Given the description of an element on the screen output the (x, y) to click on. 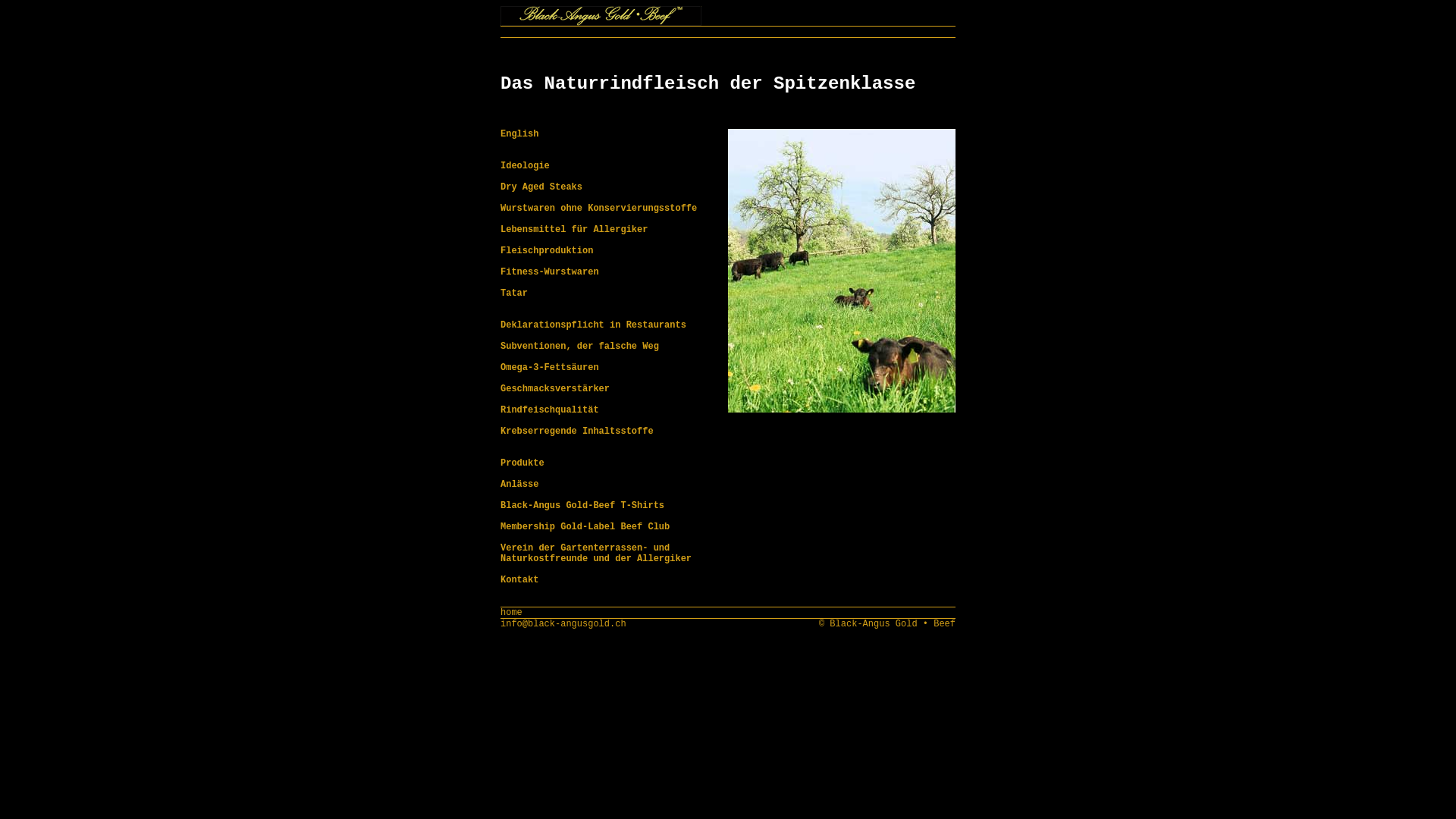
Ideologie Element type: text (524, 165)
Dry Aged Steaks Element type: text (541, 187)
Fitness-Wurstwaren Element type: text (549, 271)
English Element type: text (519, 133)
Deklarationspflicht in Restaurants Element type: text (593, 325)
Black-Angus Gold-Beef T-Shirts Element type: text (582, 505)
Krebserregende Inhaltsstoffe Element type: text (576, 431)
Membership Gold-Label Beef Club Element type: text (584, 526)
Fleischproduktion Element type: text (546, 250)
Tatar Element type: text (513, 293)
Produkte Element type: text (522, 463)
Subventionen, der falsche Weg Element type: text (579, 346)
home Element type: text (511, 612)
Kontakt Element type: text (519, 579)
Wurstwaren ohne Konservierungsstoffe Element type: text (598, 208)
info@black-angusgold.ch Element type: text (563, 623)
